Given the description of an element on the screen output the (x, y) to click on. 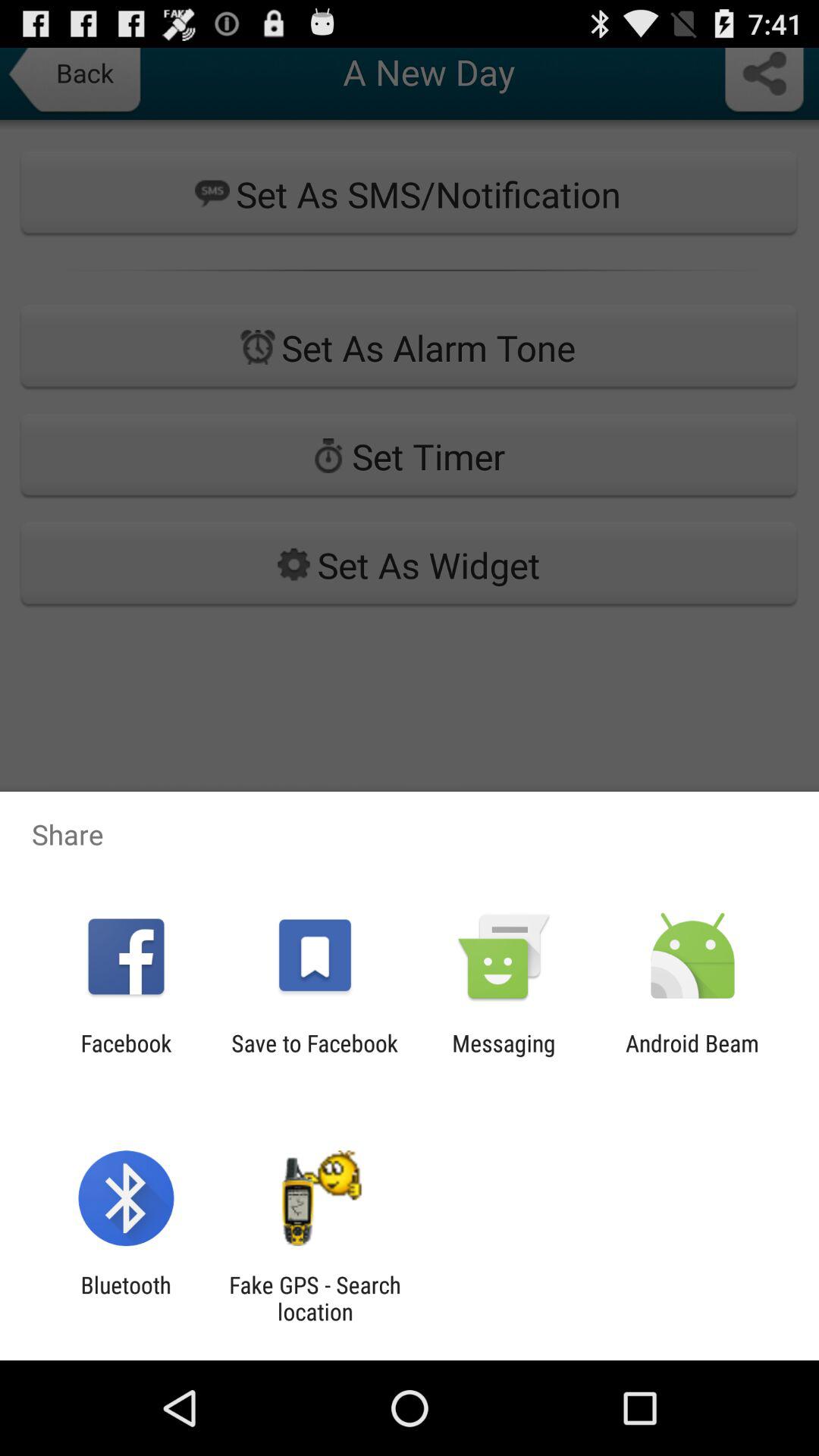
launch android beam (692, 1056)
